Given the description of an element on the screen output the (x, y) to click on. 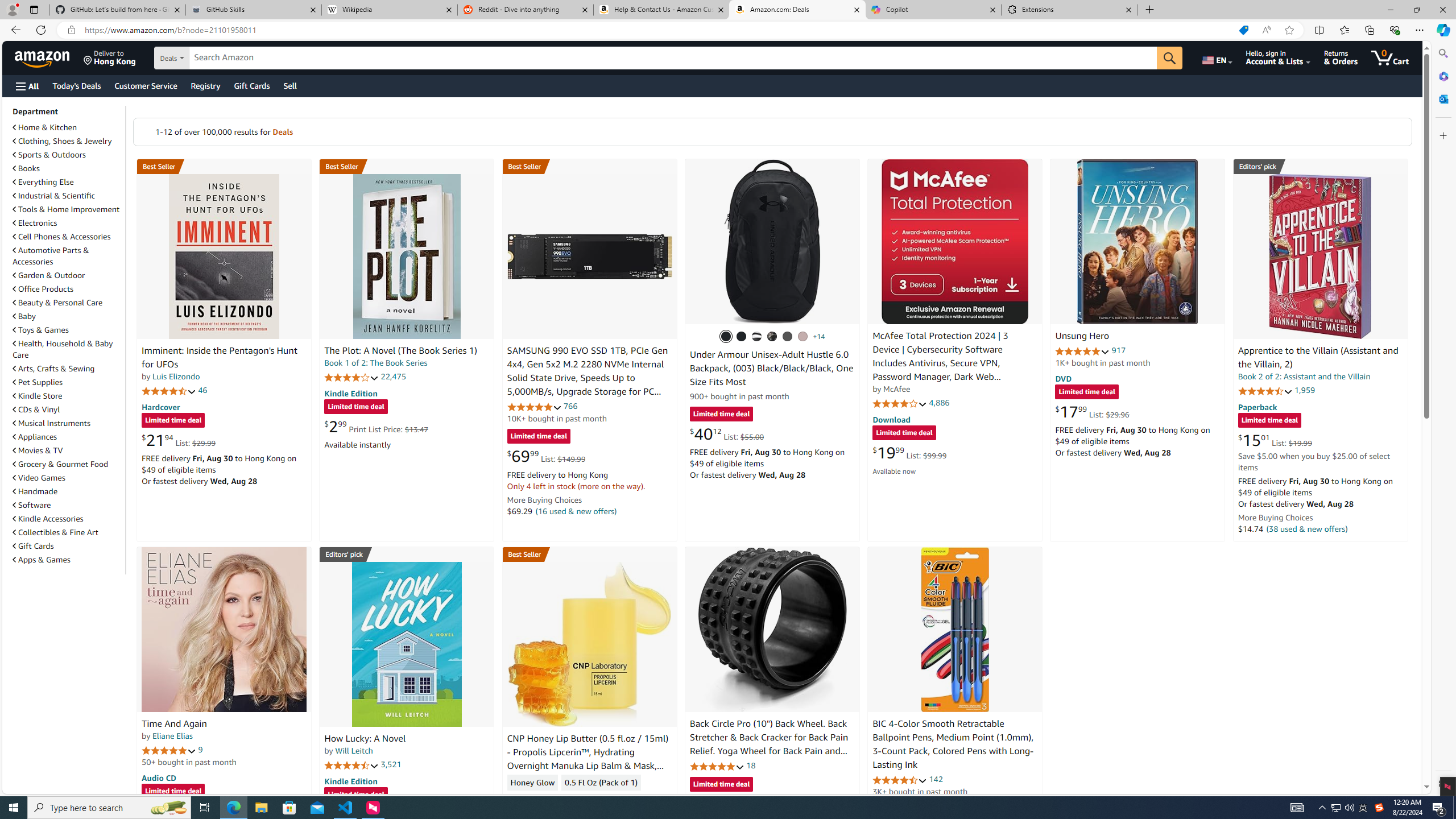
Clothing, Shoes & Jewelry (67, 140)
Registry (205, 85)
CDs & Vinyl (36, 409)
Sports & Outdoors (67, 154)
$17.99 List: $29.96 (1092, 411)
Grocery & Gourmet Food (67, 464)
(16 used & new offers) (576, 511)
Time And Again (173, 723)
Musical Instruments (67, 423)
The Plot: A Novel (The Book Series 1) (406, 256)
4,886 (938, 402)
Handmade (67, 491)
